Given the description of an element on the screen output the (x, y) to click on. 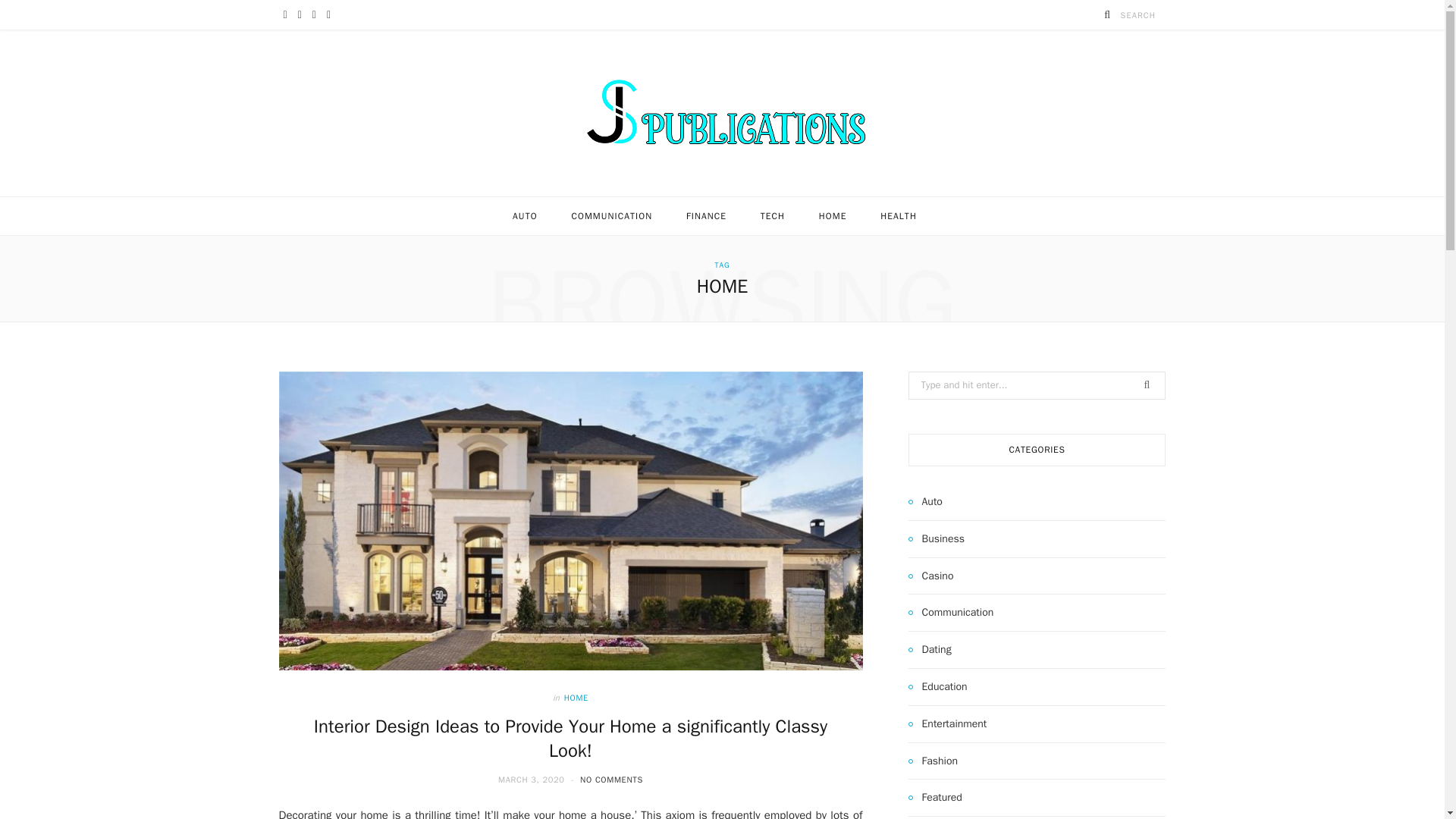
Featured (935, 797)
Search for: (1037, 385)
Communication (951, 612)
Education (938, 687)
HEALTH (897, 215)
TECH (772, 215)
HOME (832, 215)
FINANCE (706, 215)
Fashion (933, 761)
AUTO (525, 215)
HOME (576, 697)
MARCH 3, 2020 (532, 778)
COMMUNICATION (611, 215)
